Given the description of an element on the screen output the (x, y) to click on. 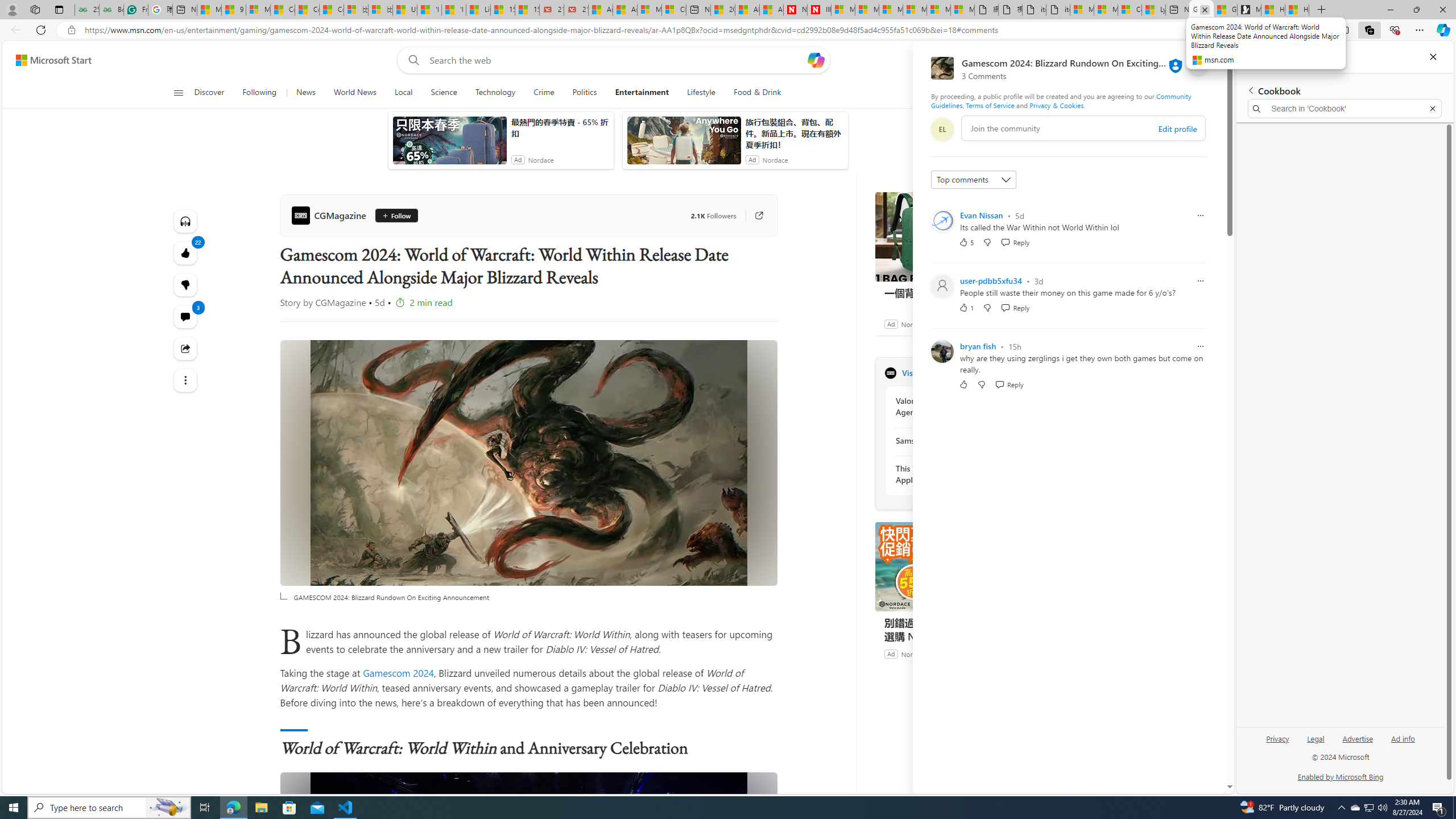
22 (184, 284)
Class: at-item (184, 380)
Community Guidelines (1060, 100)
Report comment (1200, 345)
Like (962, 384)
Exit search (1432, 108)
1 Like (965, 307)
